Given the description of an element on the screen output the (x, y) to click on. 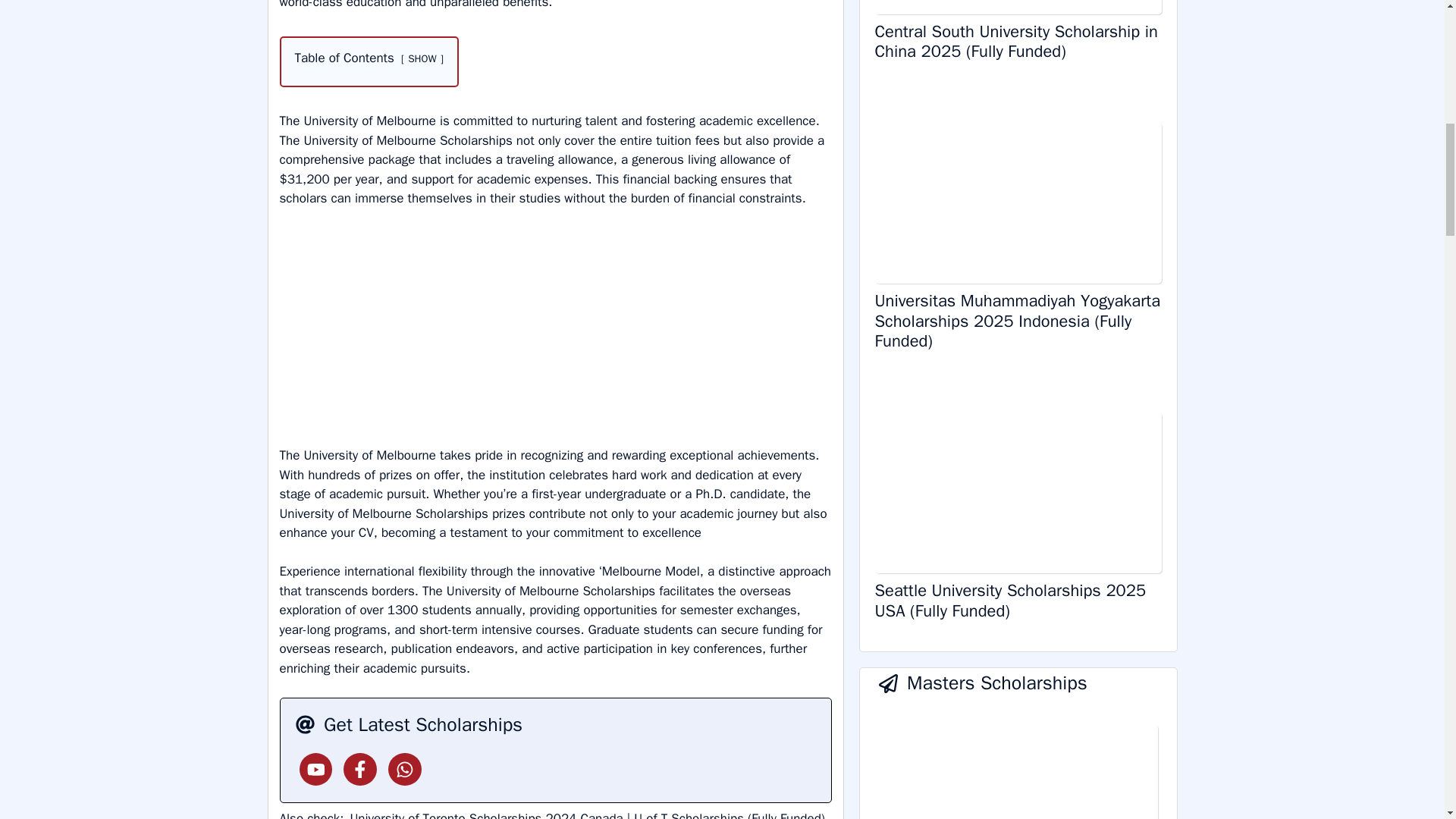
Scroll back to top (1406, 720)
